Given the description of an element on the screen output the (x, y) to click on. 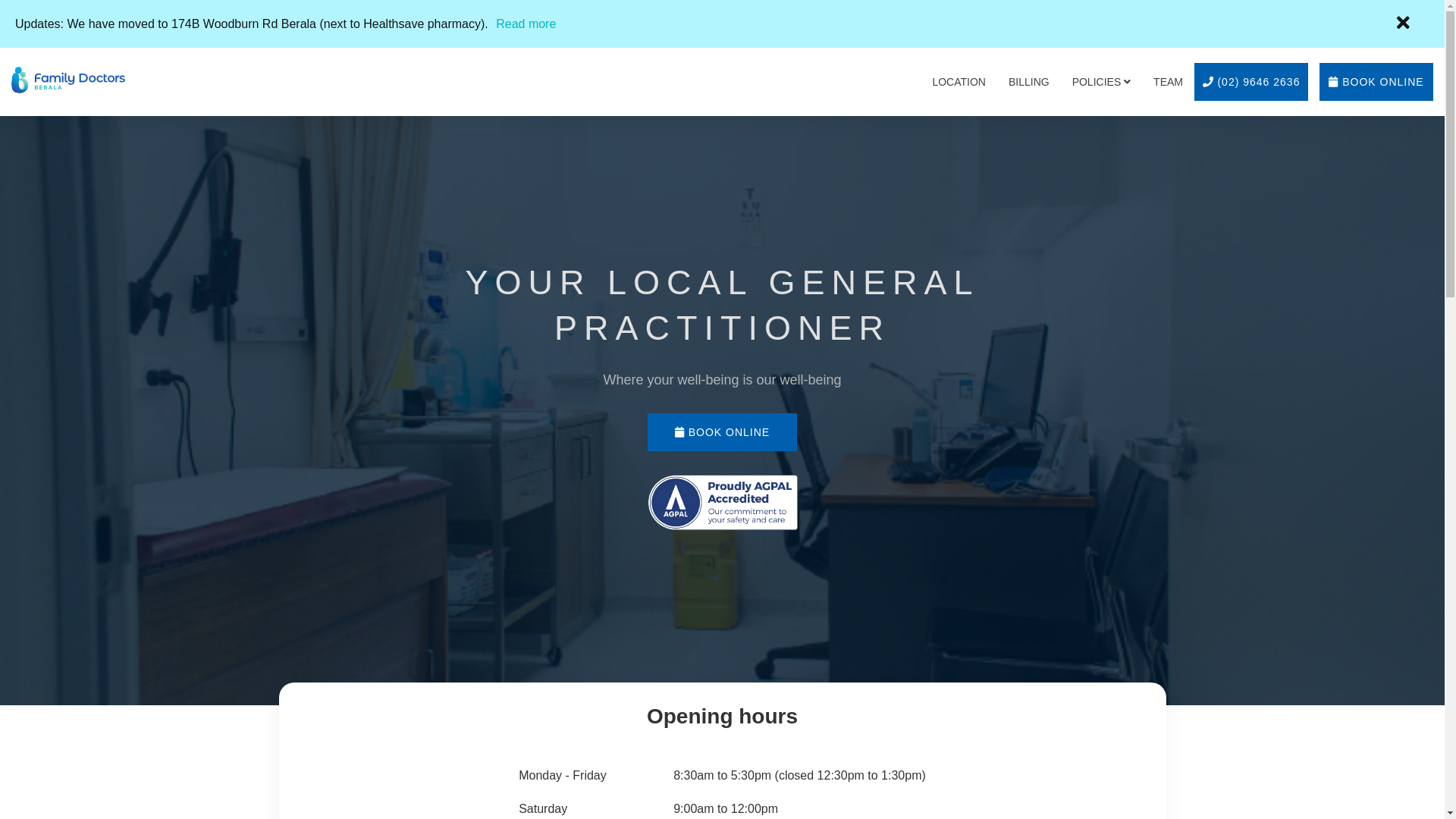
Read more Element type: text (525, 23)
BOOK ONLINE Element type: text (722, 432)
TEAM Element type: text (1168, 81)
(02) 9646 2636 Element type: text (1251, 81)
BILLING Element type: text (1028, 81)
POLICIES Element type: text (1101, 81)
LOCATION Element type: text (958, 81)
BOOK ONLINE Element type: text (1376, 81)
